Given the description of an element on the screen output the (x, y) to click on. 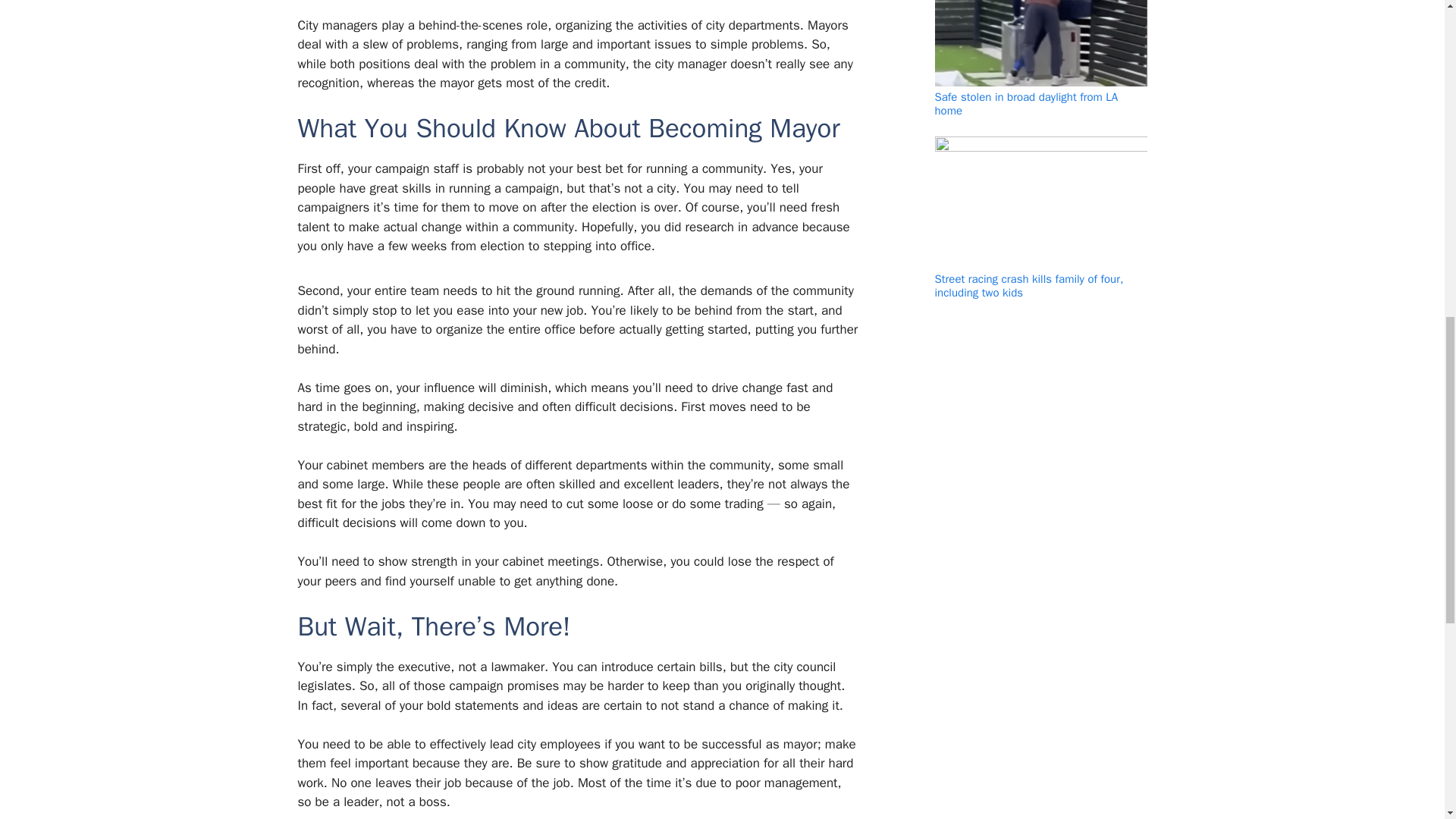
Safe stolen in broad daylight from LA home (1026, 103)
Advertisement (570, 4)
Street racing crash kills family of four, including two kids (1028, 285)
